Given the description of an element on the screen output the (x, y) to click on. 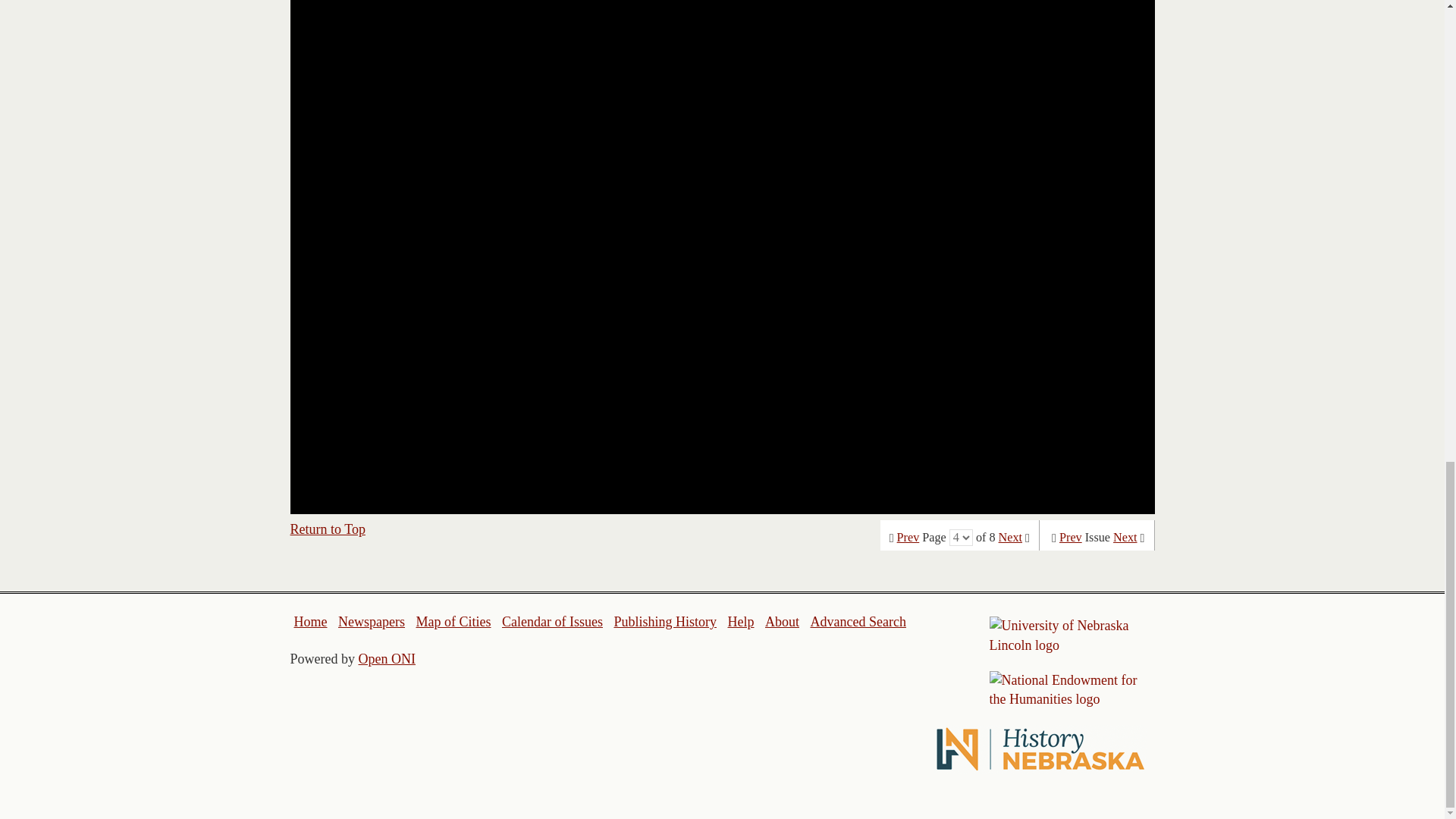
About (782, 621)
Calendar of Issues (552, 621)
Prev (908, 537)
Home (310, 621)
Next (1010, 537)
Open ONI (386, 658)
Map of Cities (452, 621)
Advanced Search (857, 621)
Newspapers (370, 621)
Help (740, 621)
